Given the description of an element on the screen output the (x, y) to click on. 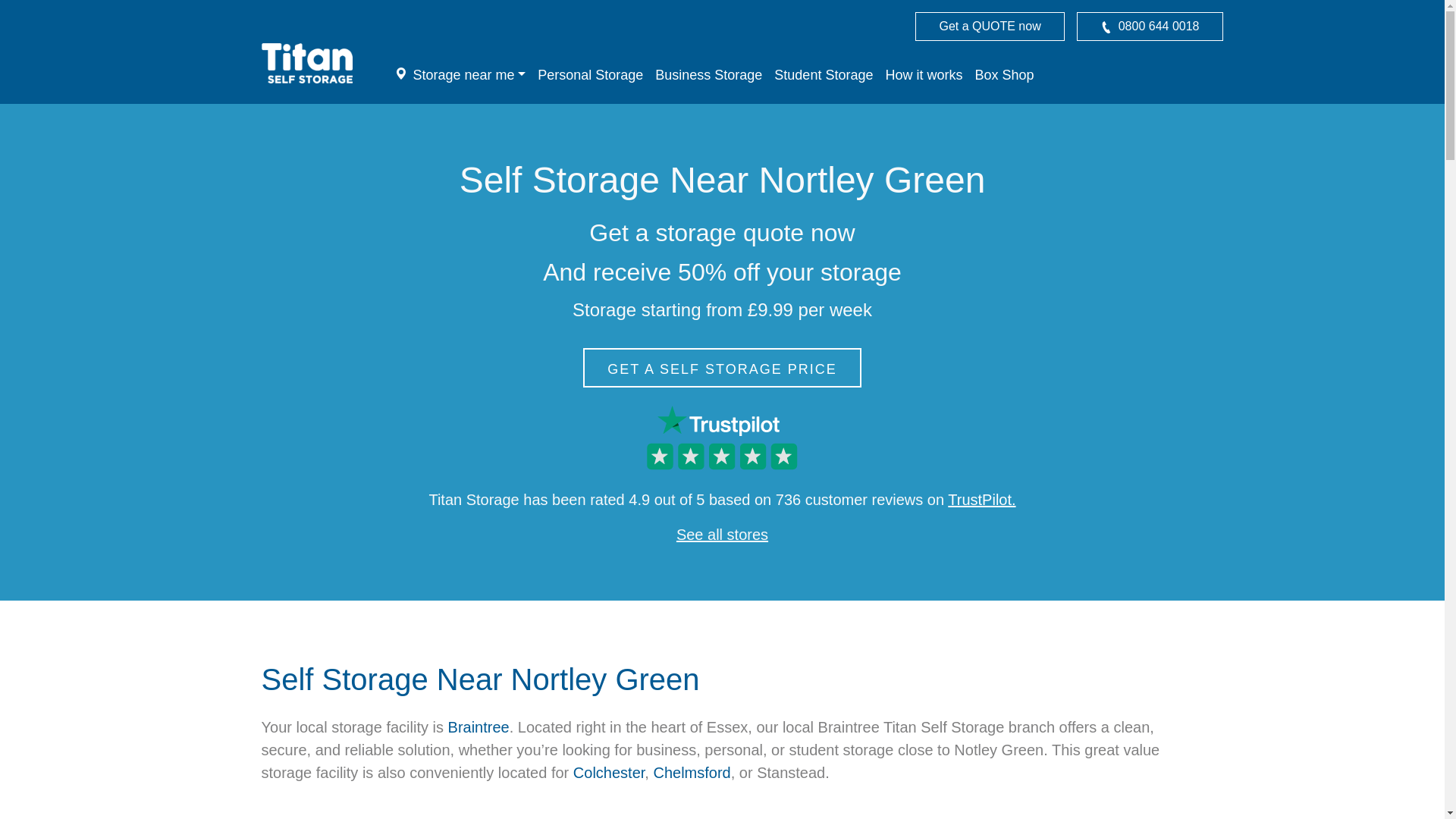
Personal Storage (590, 74)
How it works (923, 74)
TrustPilot. (980, 499)
Box Shop (1003, 74)
Chelmsford (691, 772)
GET A SELF STORAGE PRICE (721, 367)
Student Storage (823, 74)
Business Storage (708, 74)
Get a QUOTE now (989, 26)
See all stores (722, 534)
